Given the description of an element on the screen output the (x, y) to click on. 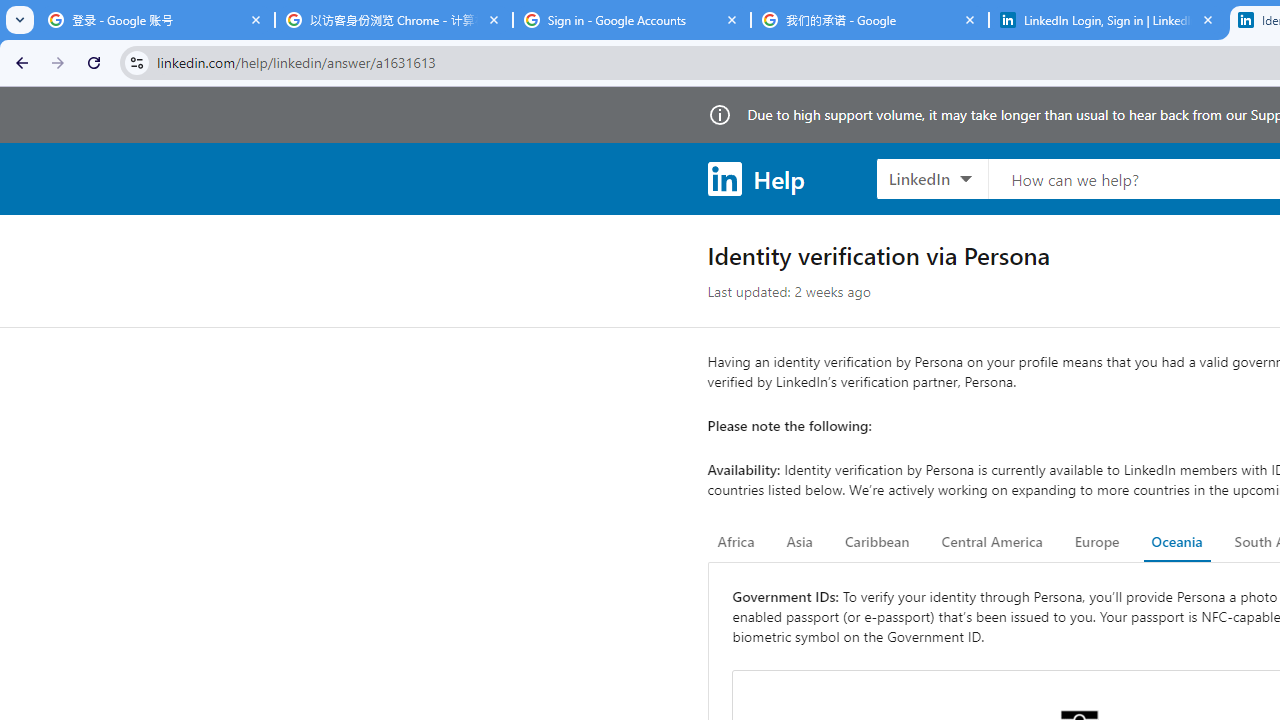
Oceania (1176, 542)
